Given the description of an element on the screen output the (x, y) to click on. 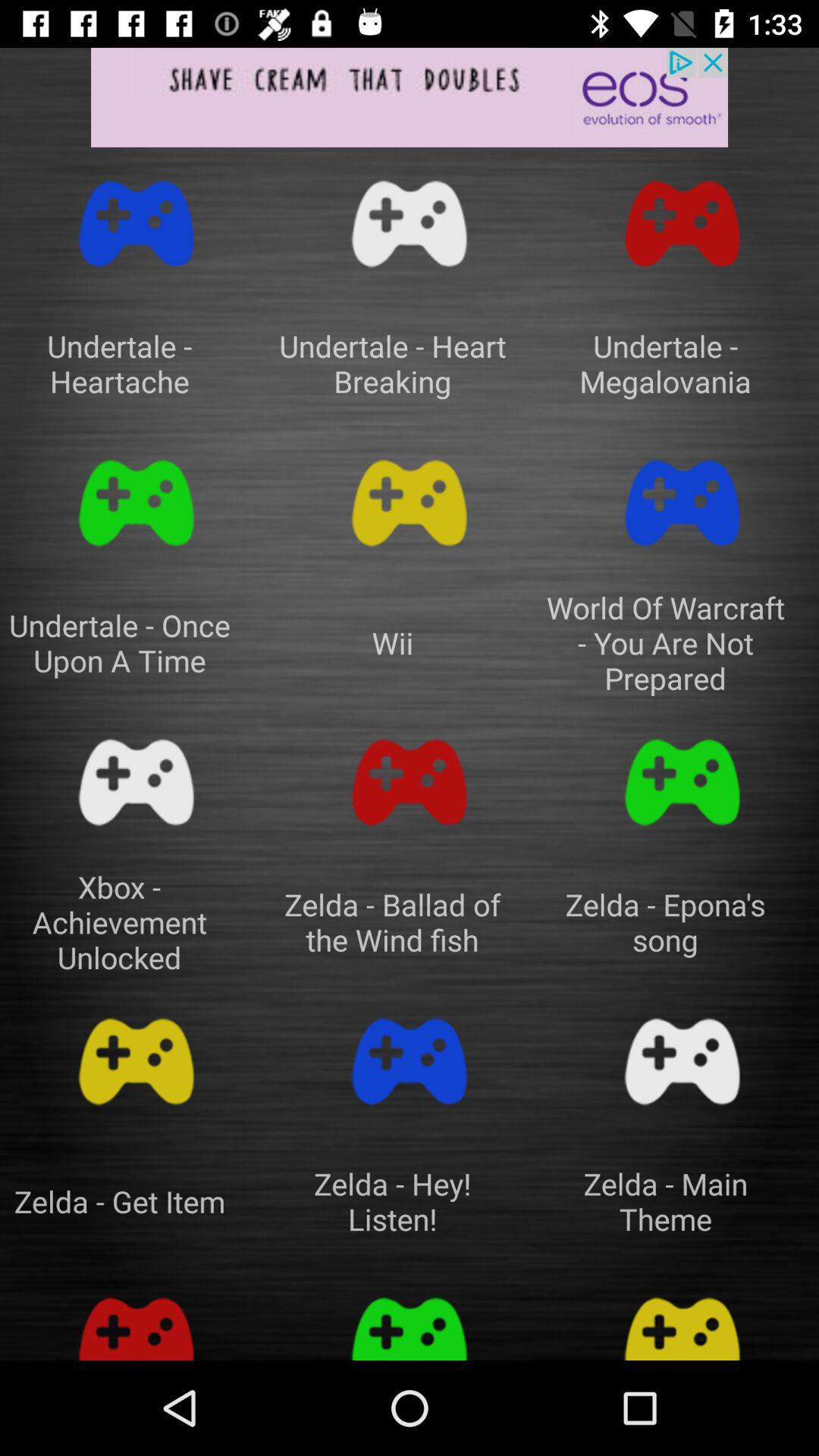
opens the android app (136, 503)
